Given the description of an element on the screen output the (x, y) to click on. 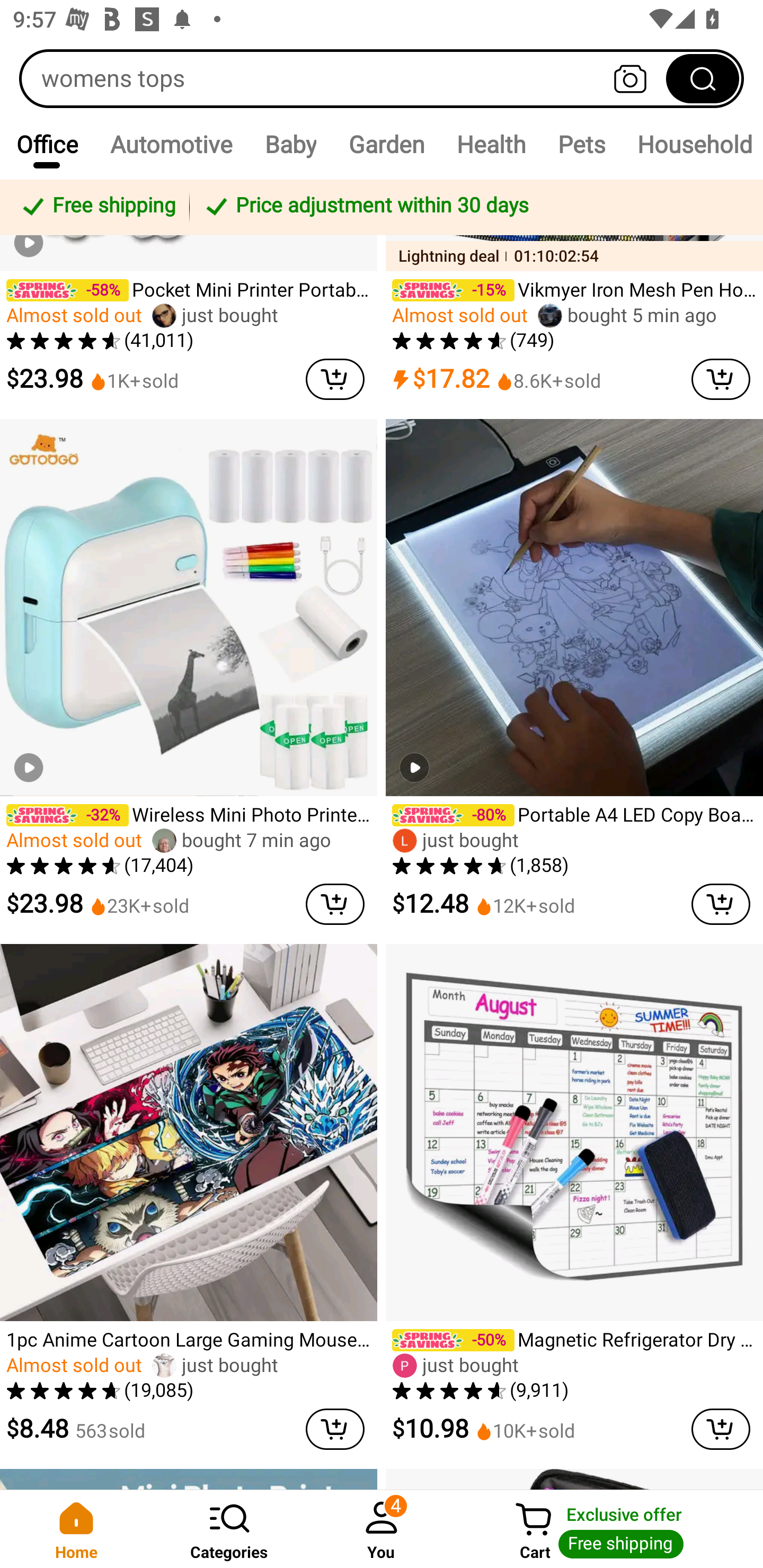
womens tops (381, 78)
Office (46, 144)
Automotive (170, 144)
Baby (289, 144)
Garden (385, 144)
Health (490, 144)
Pets (581, 144)
Household (692, 144)
Free shipping (97, 206)
Price adjustment within 30 days (472, 206)
cart delete (334, 379)
cart delete (720, 379)
cart delete (334, 904)
cart delete (720, 904)
cart delete (334, 1429)
cart delete (720, 1429)
Home (76, 1528)
Categories (228, 1528)
You 4 You (381, 1528)
Cart Cart Exclusive offer (610, 1528)
